Given the description of an element on the screen output the (x, y) to click on. 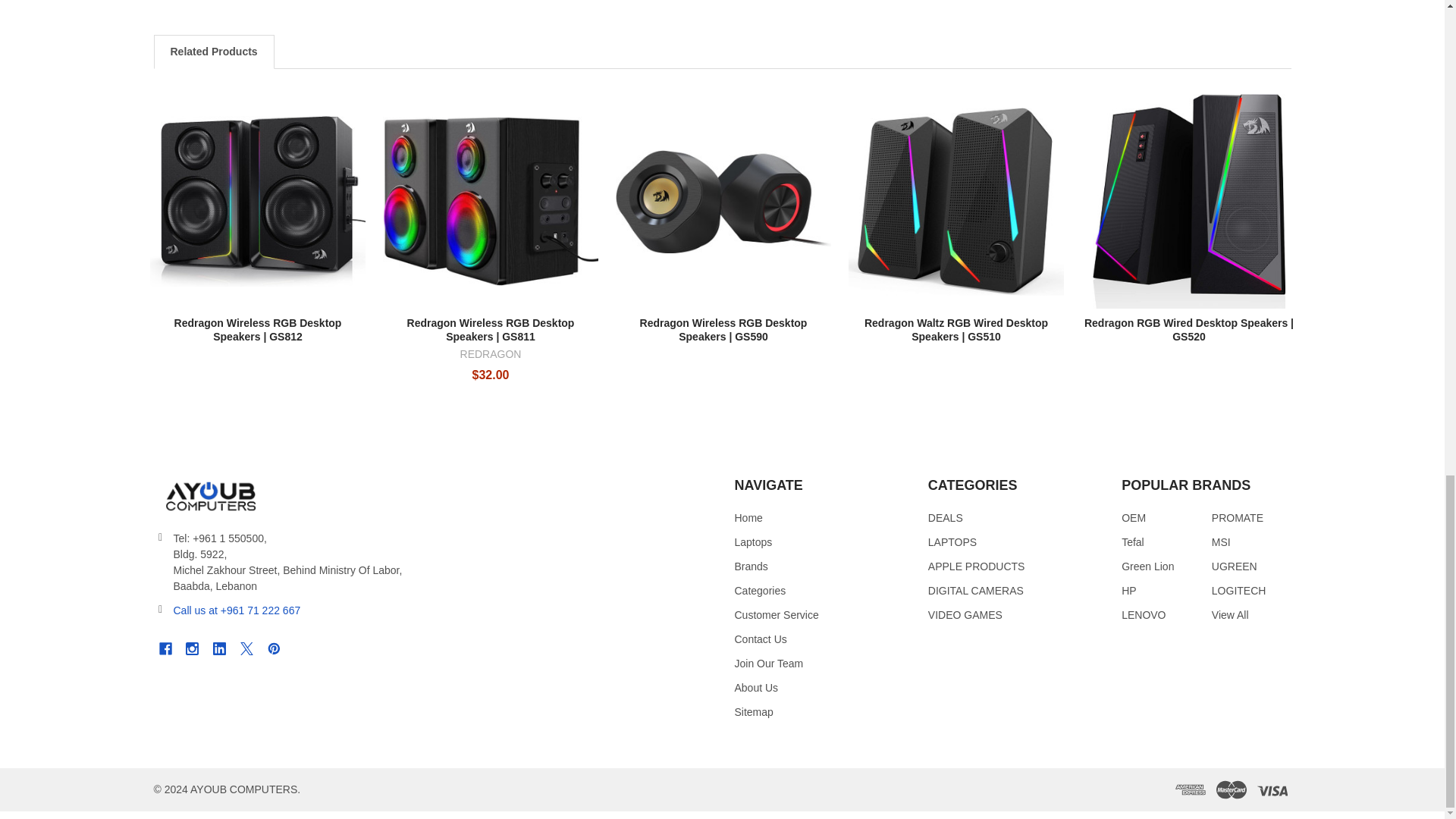
Pinterest (273, 648)
Instagram (191, 648)
AYOUB COMPUTERS (209, 496)
Linkedin (219, 648)
X (246, 648)
Facebook (164, 648)
